Given the description of an element on the screen output the (x, y) to click on. 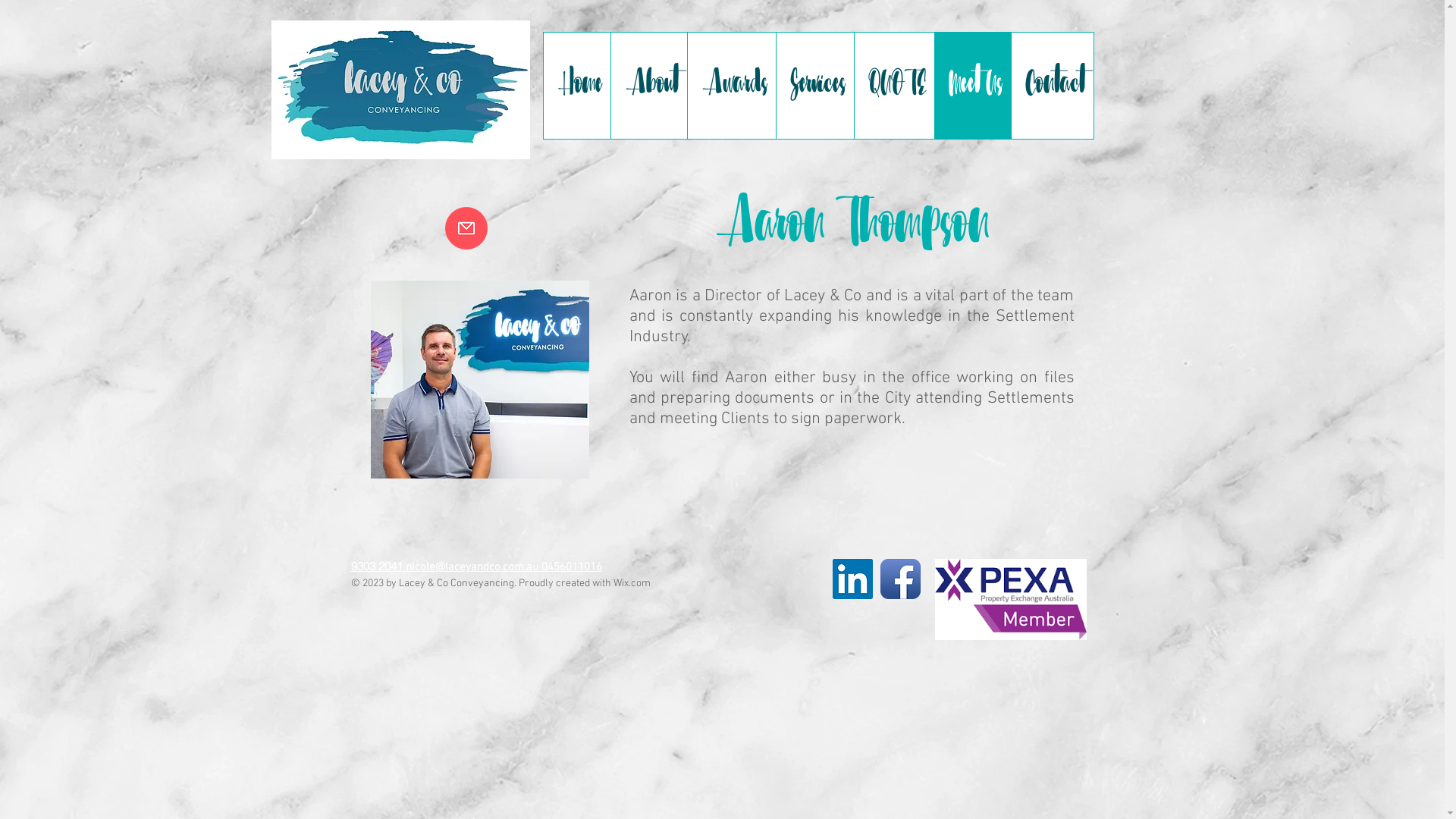
Awards Element type: text (731, 85)
Services Element type: text (814, 85)
Contact Element type: text (1051, 85)
Wix.com Element type: text (630, 583)
Home Element type: text (575, 85)
About Element type: text (647, 85)
9303 2041 nicole@laceyandco.com.au 0456011016 Element type: text (475, 567)
Meet Us Element type: text (972, 85)
QUOTE Element type: text (893, 85)
